Given the description of an element on the screen output the (x, y) to click on. 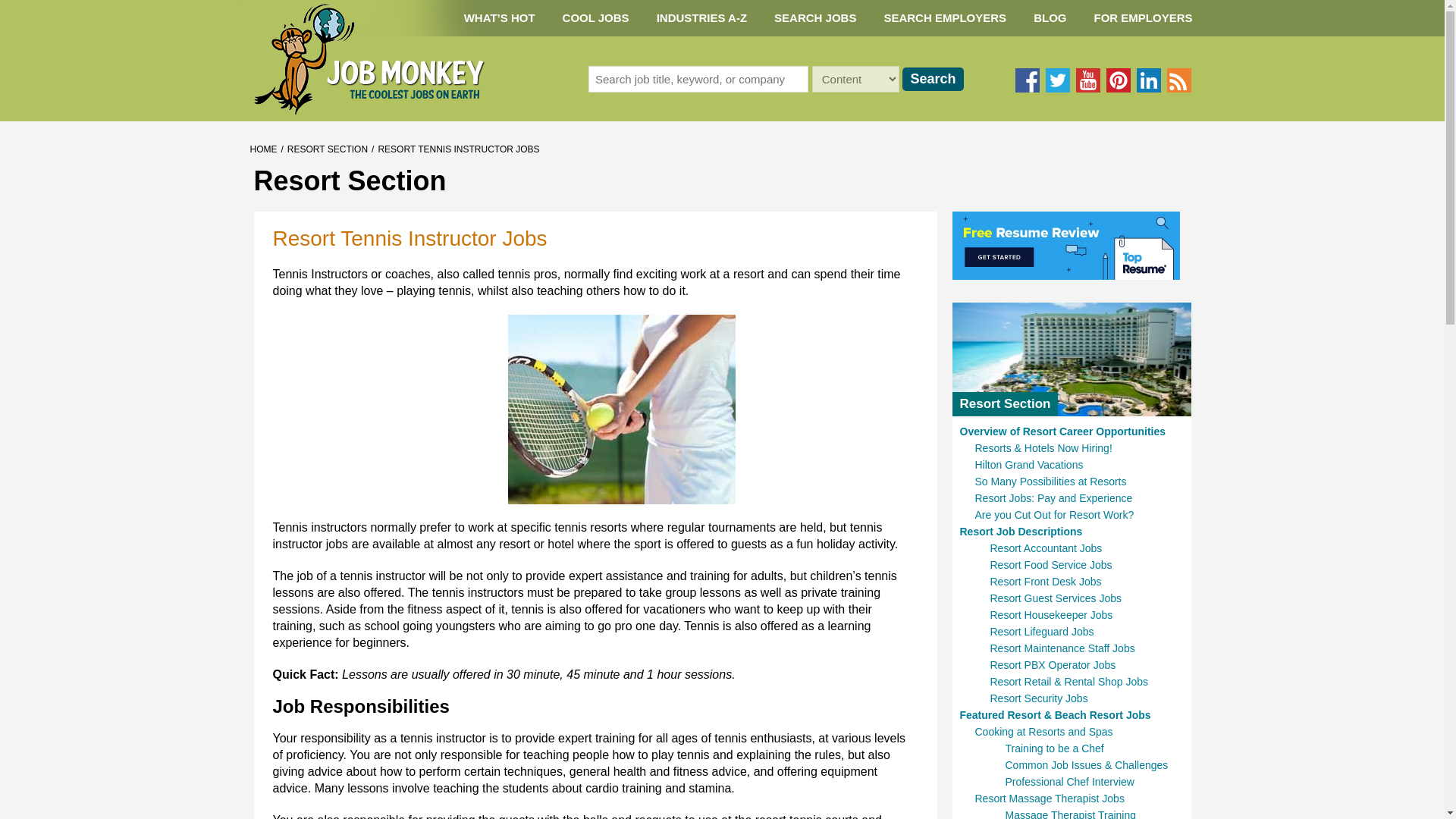
Connect with us on LinkedIn (1147, 79)
Follow us on YouTube (1087, 79)
Subscribe to our blog (1178, 79)
SEARCH EMPLOYERS (944, 18)
Subscribe to our blog (1178, 79)
FOR EMPLOYERS (1142, 18)
Connect with us on LinkedIn (1147, 79)
INDUSTRIES A-Z (701, 18)
SEARCH JOBS (814, 18)
Search (932, 78)
Follow us on Pinterest (1117, 79)
Go to Resort Section. (327, 149)
Follow us on Pinterest (1117, 79)
Follow us on YouTube (1087, 79)
COOL JOBS (595, 18)
